Given the description of an element on the screen output the (x, y) to click on. 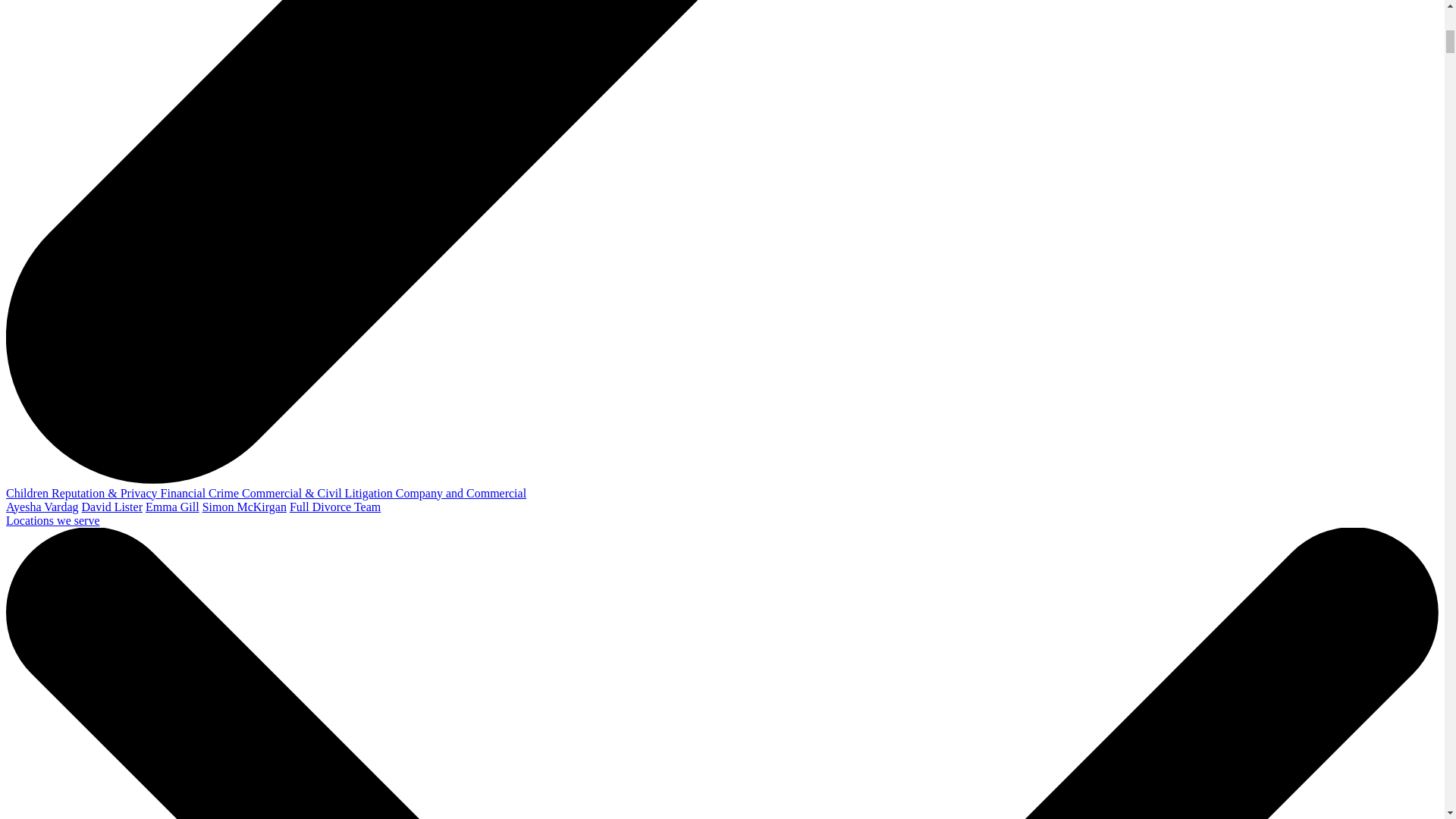
Company and Commercial (460, 492)
Full Divorce Team (334, 506)
Emma Gill (172, 506)
Ayesha Vardag (41, 506)
Simon McKirgan (244, 506)
Emma Gill (172, 506)
Children (27, 492)
Financial Crime (201, 492)
David Lister (111, 506)
Children (27, 492)
